Given the description of an element on the screen output the (x, y) to click on. 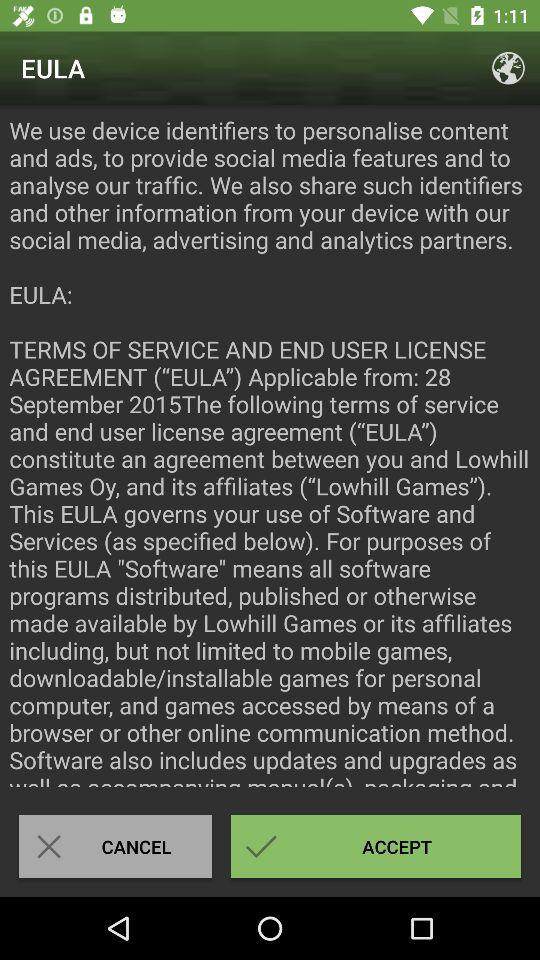
choose the item next to accept (115, 846)
